Given the description of an element on the screen output the (x, y) to click on. 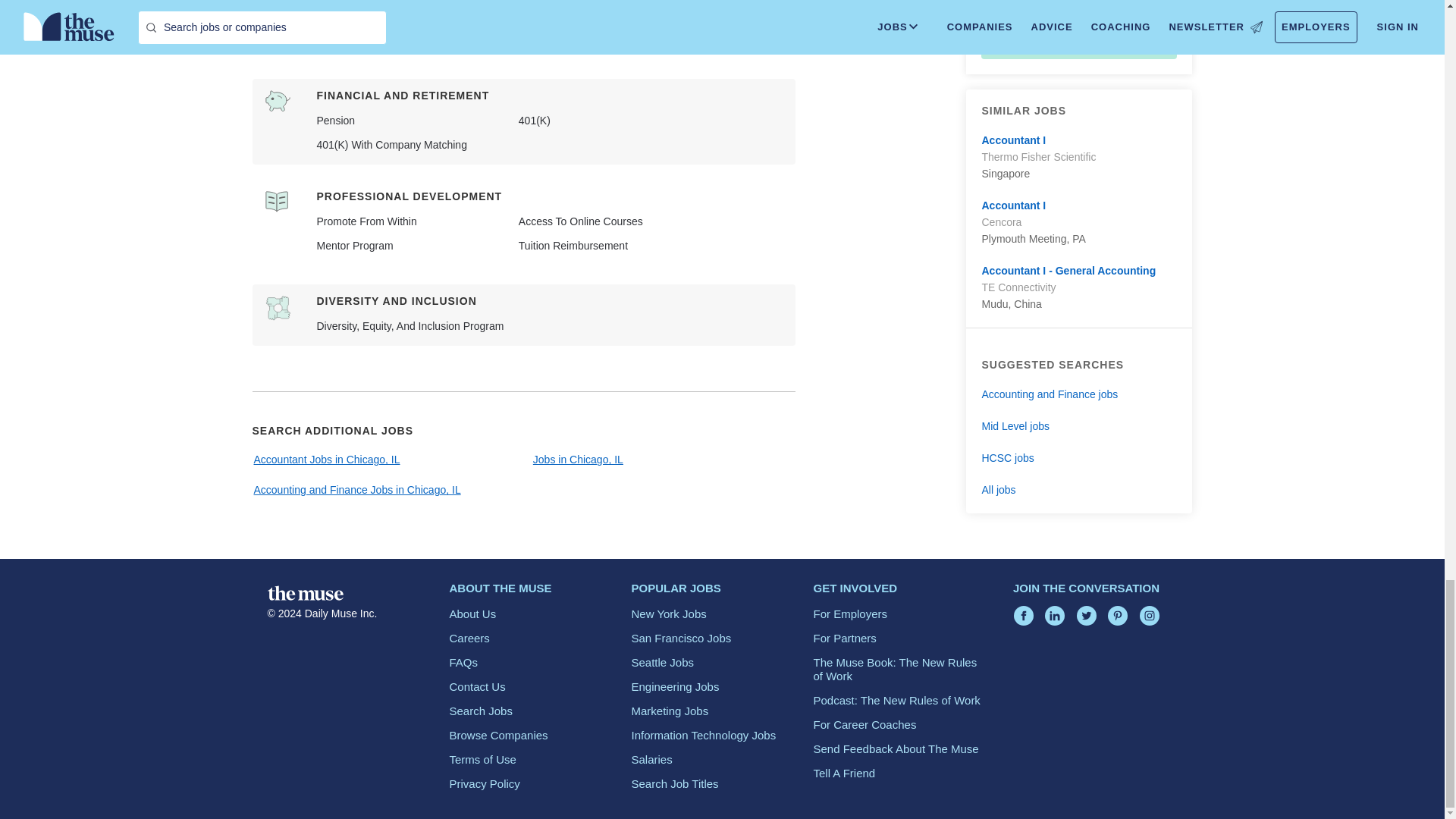
The Muse LogoA logo with "the muse" in white text. (304, 592)
